Given the description of an element on the screen output the (x, y) to click on. 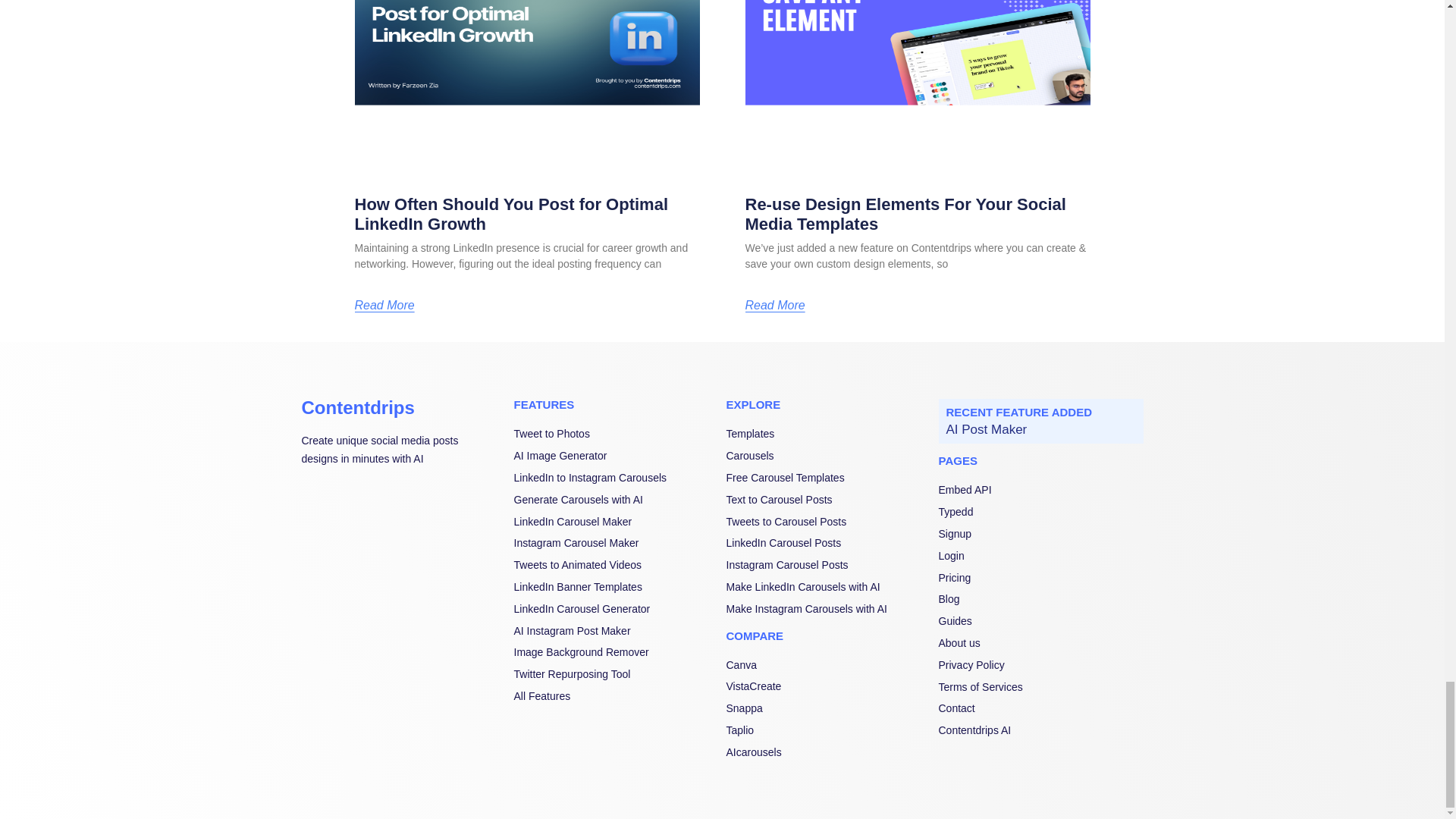
Tweets to Animated Videos (616, 565)
Free Carousel Templates (828, 478)
Read More (774, 305)
Read More (384, 305)
LinkedIn to Instagram Carousels (616, 478)
LinkedIn Banner Templates (616, 587)
Carousels (828, 456)
Re-use Design Elements For Your Social Media Templates (904, 213)
LinkedIn Carousel Generator (616, 609)
Templates (828, 434)
LinkedIn Carousel Maker (616, 522)
Image Background Remover (616, 652)
All Features (616, 696)
Generate Carousels with AI (616, 500)
AI Instagram Post Maker (616, 631)
